Given the description of an element on the screen output the (x, y) to click on. 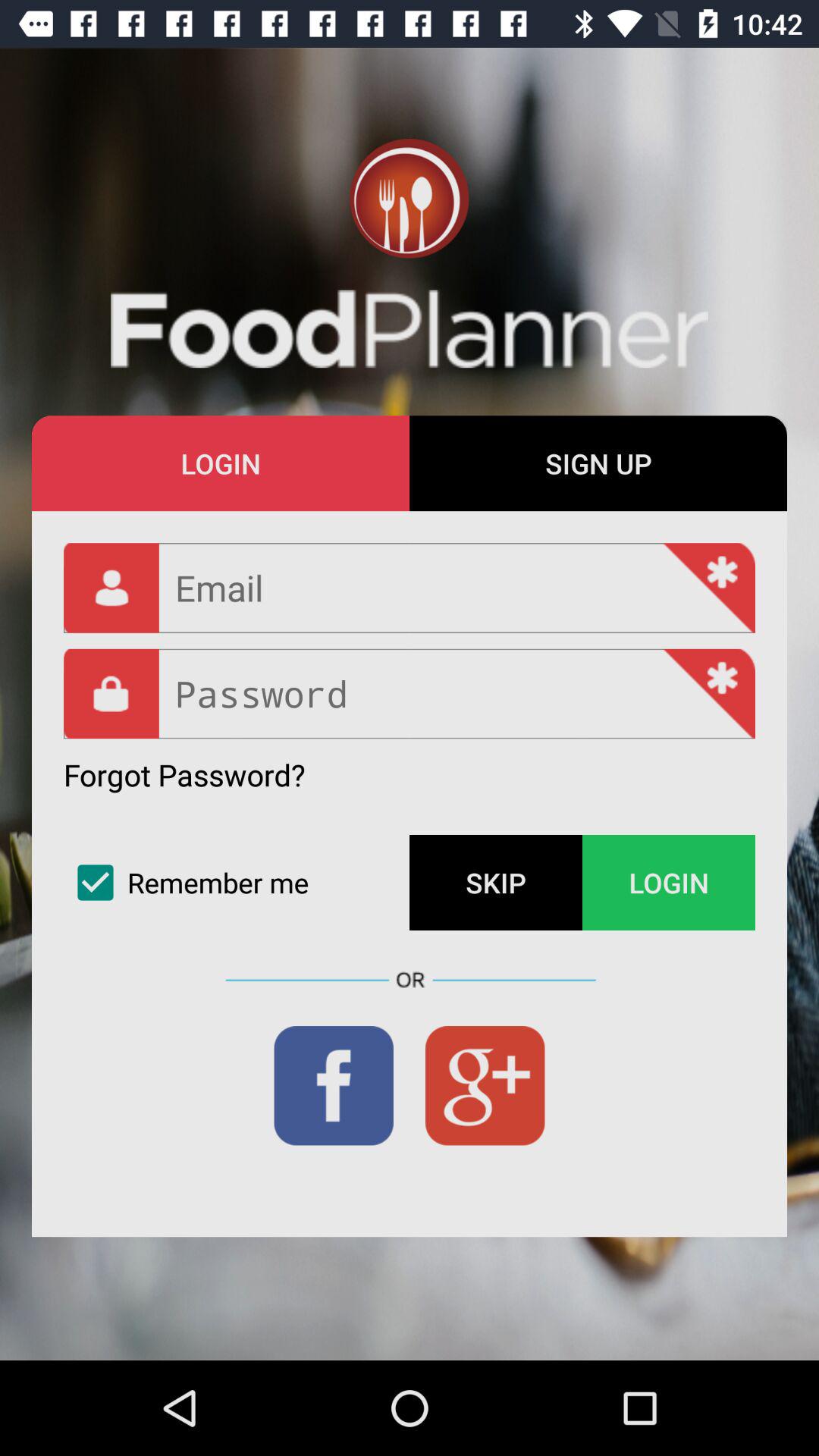
press the icon next to the skip (236, 882)
